Given the description of an element on the screen output the (x, y) to click on. 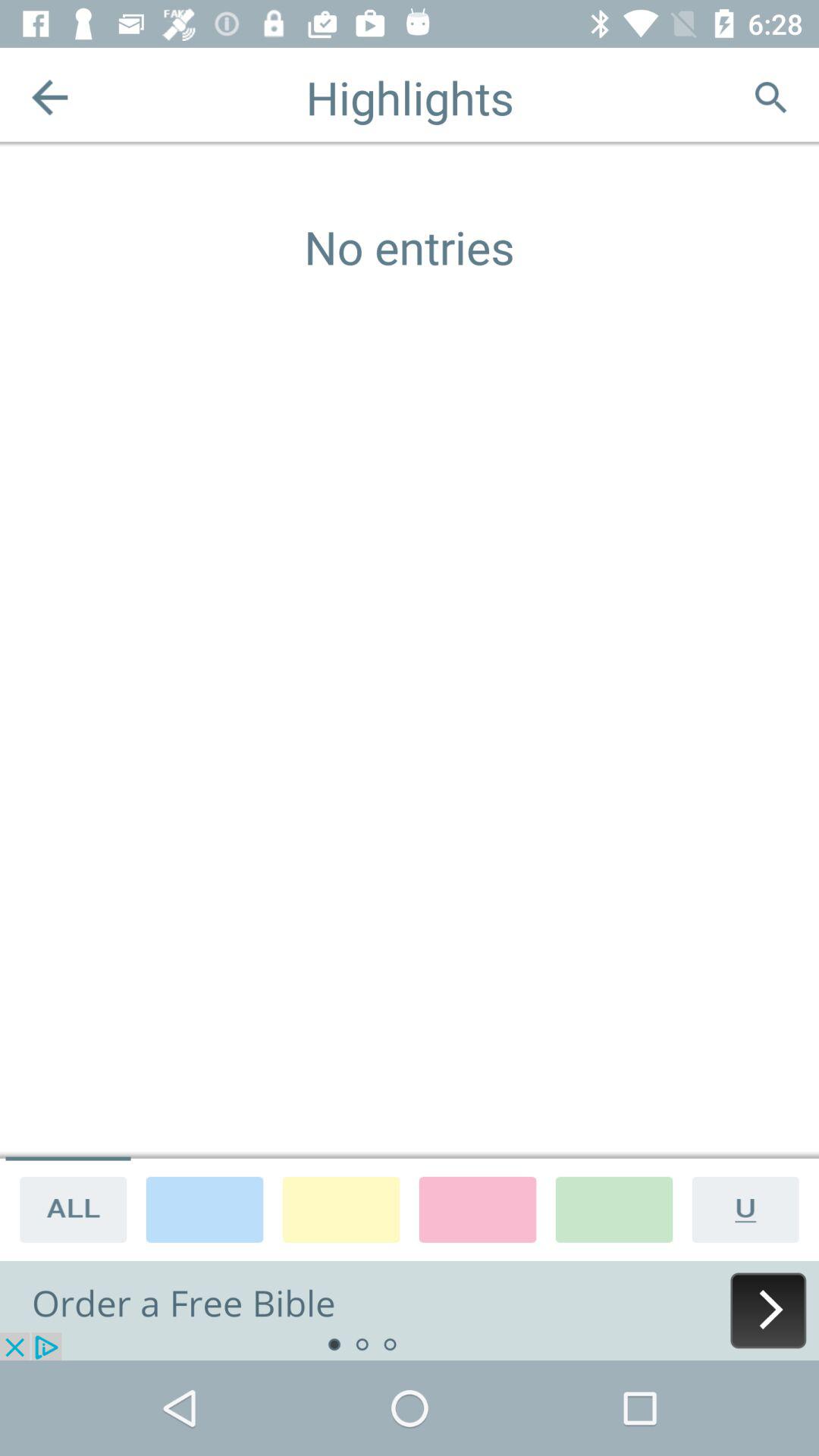
underline the words (750, 1208)
